Given the description of an element on the screen output the (x, y) to click on. 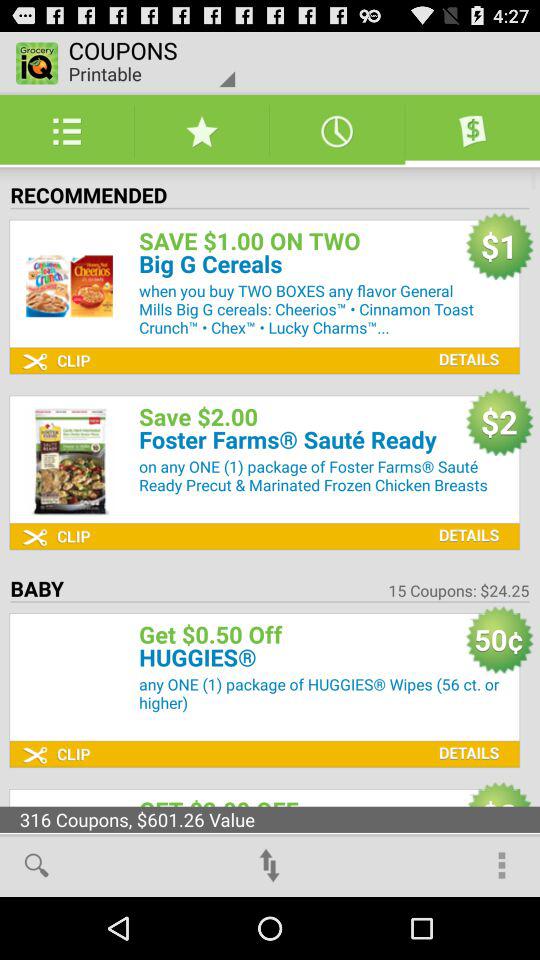
more info (464, 343)
